Given the description of an element on the screen output the (x, y) to click on. 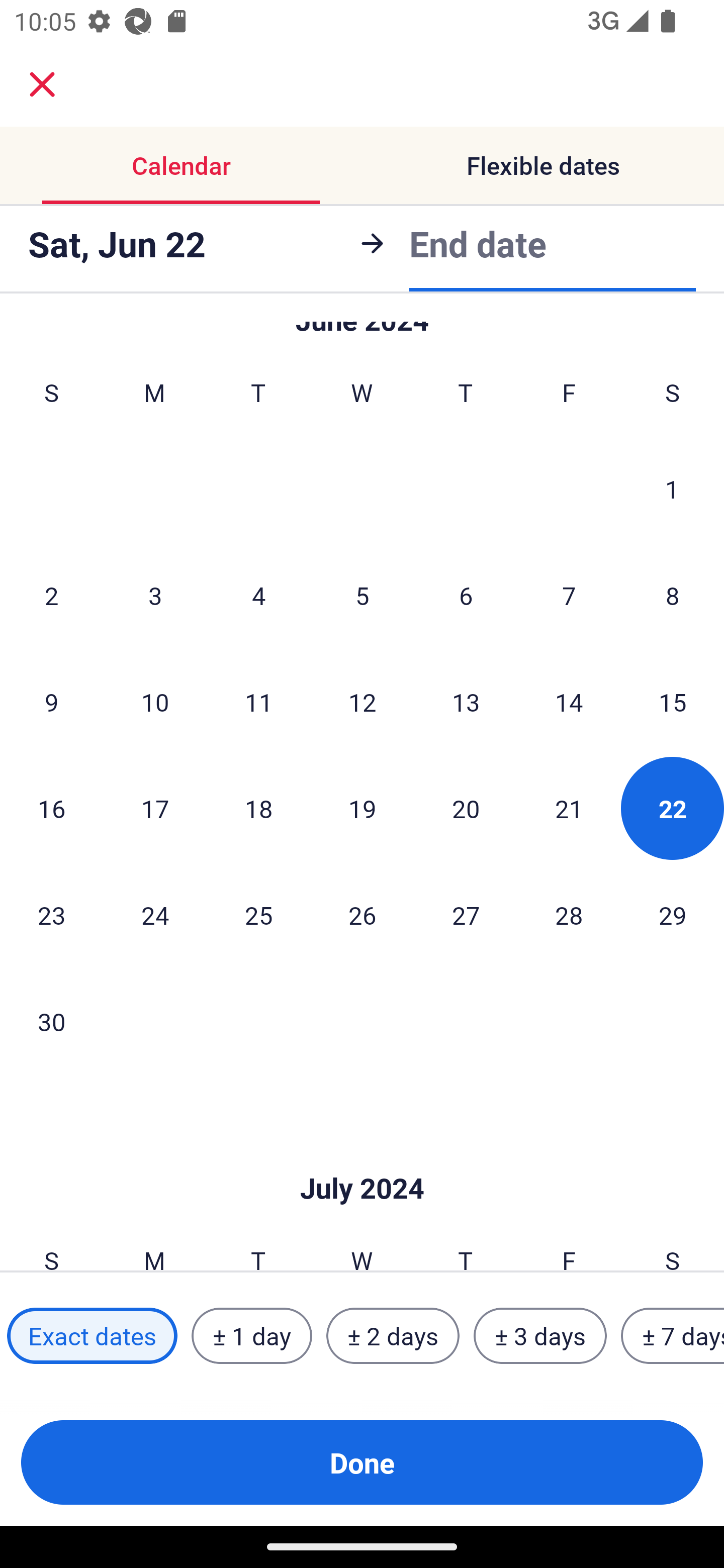
close. (42, 84)
Flexible dates (542, 164)
End date (477, 240)
1 Saturday, June 1, 2024 (672, 488)
2 Sunday, June 2, 2024 (51, 595)
3 Monday, June 3, 2024 (155, 595)
4 Tuesday, June 4, 2024 (258, 595)
5 Wednesday, June 5, 2024 (362, 595)
6 Thursday, June 6, 2024 (465, 595)
7 Friday, June 7, 2024 (569, 595)
8 Saturday, June 8, 2024 (672, 595)
9 Sunday, June 9, 2024 (51, 701)
10 Monday, June 10, 2024 (155, 701)
11 Tuesday, June 11, 2024 (258, 701)
12 Wednesday, June 12, 2024 (362, 701)
13 Thursday, June 13, 2024 (465, 701)
14 Friday, June 14, 2024 (569, 701)
15 Saturday, June 15, 2024 (672, 701)
16 Sunday, June 16, 2024 (51, 808)
17 Monday, June 17, 2024 (155, 808)
18 Tuesday, June 18, 2024 (258, 808)
19 Wednesday, June 19, 2024 (362, 808)
20 Thursday, June 20, 2024 (465, 808)
21 Friday, June 21, 2024 (569, 808)
23 Sunday, June 23, 2024 (51, 914)
24 Monday, June 24, 2024 (155, 914)
25 Tuesday, June 25, 2024 (258, 914)
26 Wednesday, June 26, 2024 (362, 914)
27 Thursday, June 27, 2024 (465, 914)
28 Friday, June 28, 2024 (569, 914)
29 Saturday, June 29, 2024 (672, 914)
30 Sunday, June 30, 2024 (51, 1021)
Skip to Done (362, 1158)
Exact dates (92, 1335)
± 1 day (251, 1335)
± 2 days (392, 1335)
± 3 days (539, 1335)
± 7 days (672, 1335)
Done (361, 1462)
